Given the description of an element on the screen output the (x, y) to click on. 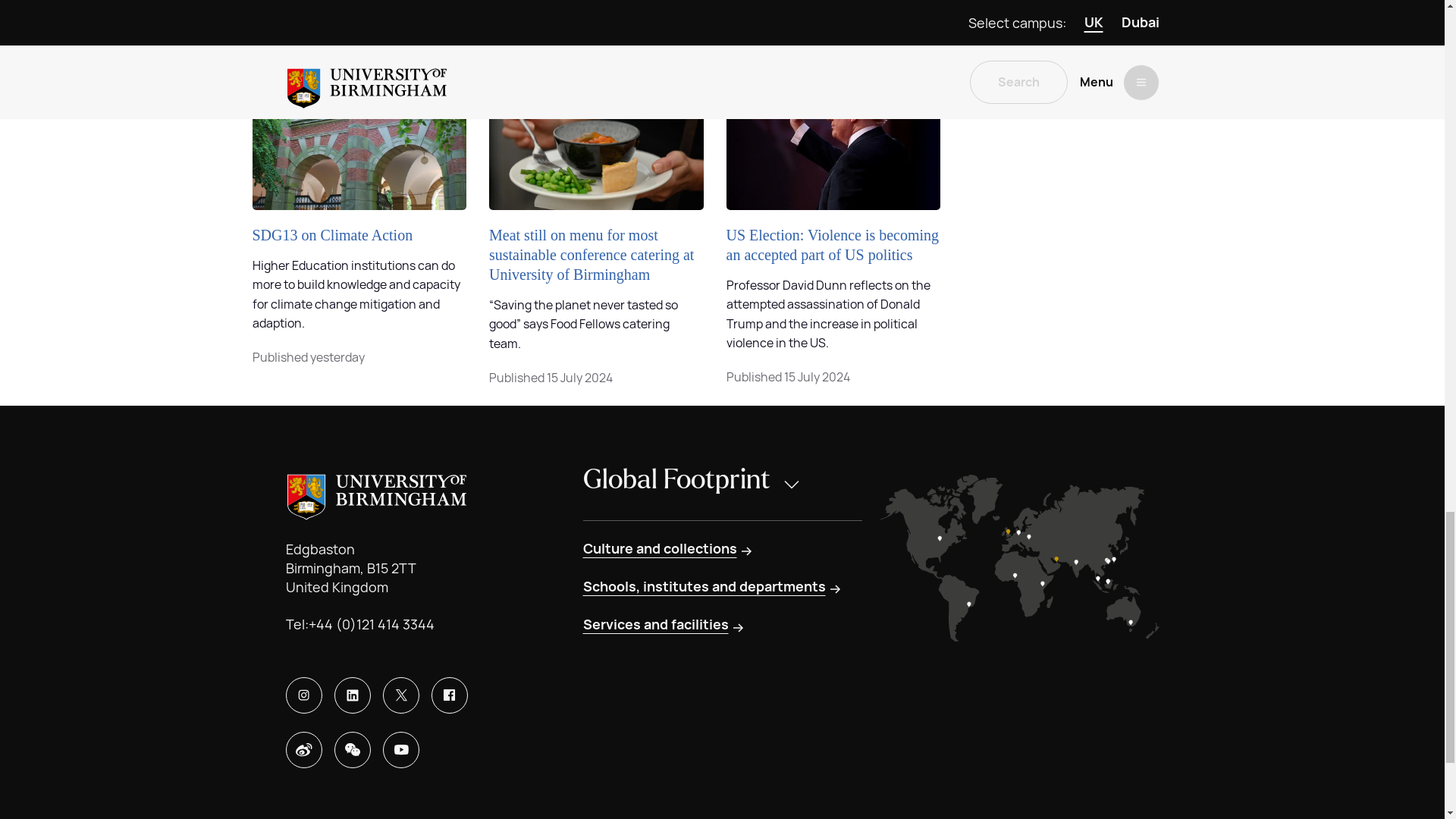
Culture and collections (668, 548)
Services and facilities (663, 624)
Schools, institutes and departments (712, 587)
